Given the description of an element on the screen output the (x, y) to click on. 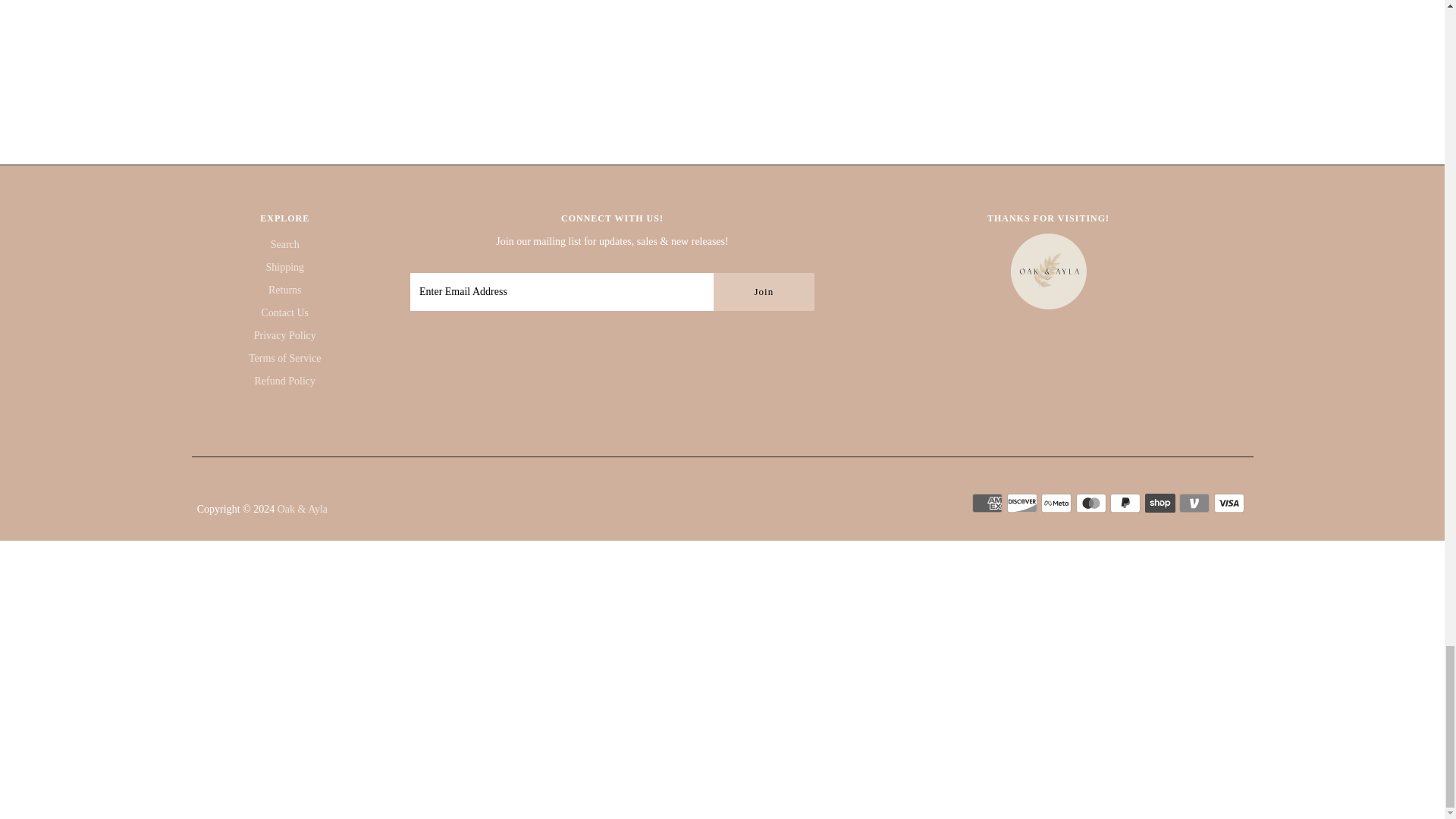
Join (763, 291)
Venmo (1194, 502)
Search (284, 244)
Meta Pay (1056, 502)
Visa (1229, 502)
Mastercard (1090, 502)
Returns (284, 289)
Terms of Service (284, 357)
PayPal (1124, 502)
Shipping (284, 266)
Contact Us (284, 312)
Discover (1021, 502)
American Express (987, 502)
Shop Pay (1159, 502)
Privacy Policy (284, 335)
